Given the description of an element on the screen output the (x, y) to click on. 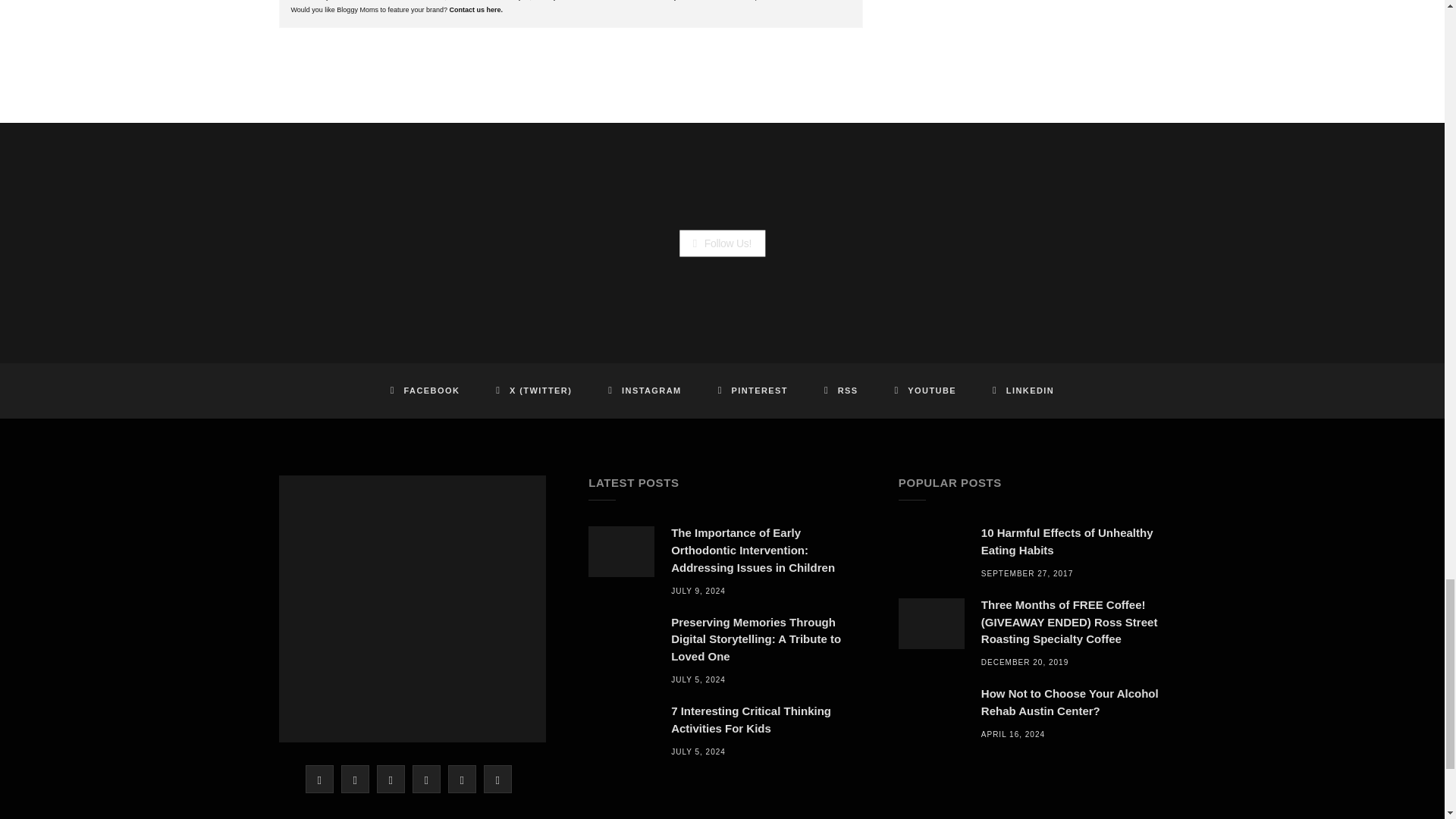
Instagram Image (601, 242)
Instagram Image (361, 242)
